Given the description of an element on the screen output the (x, y) to click on. 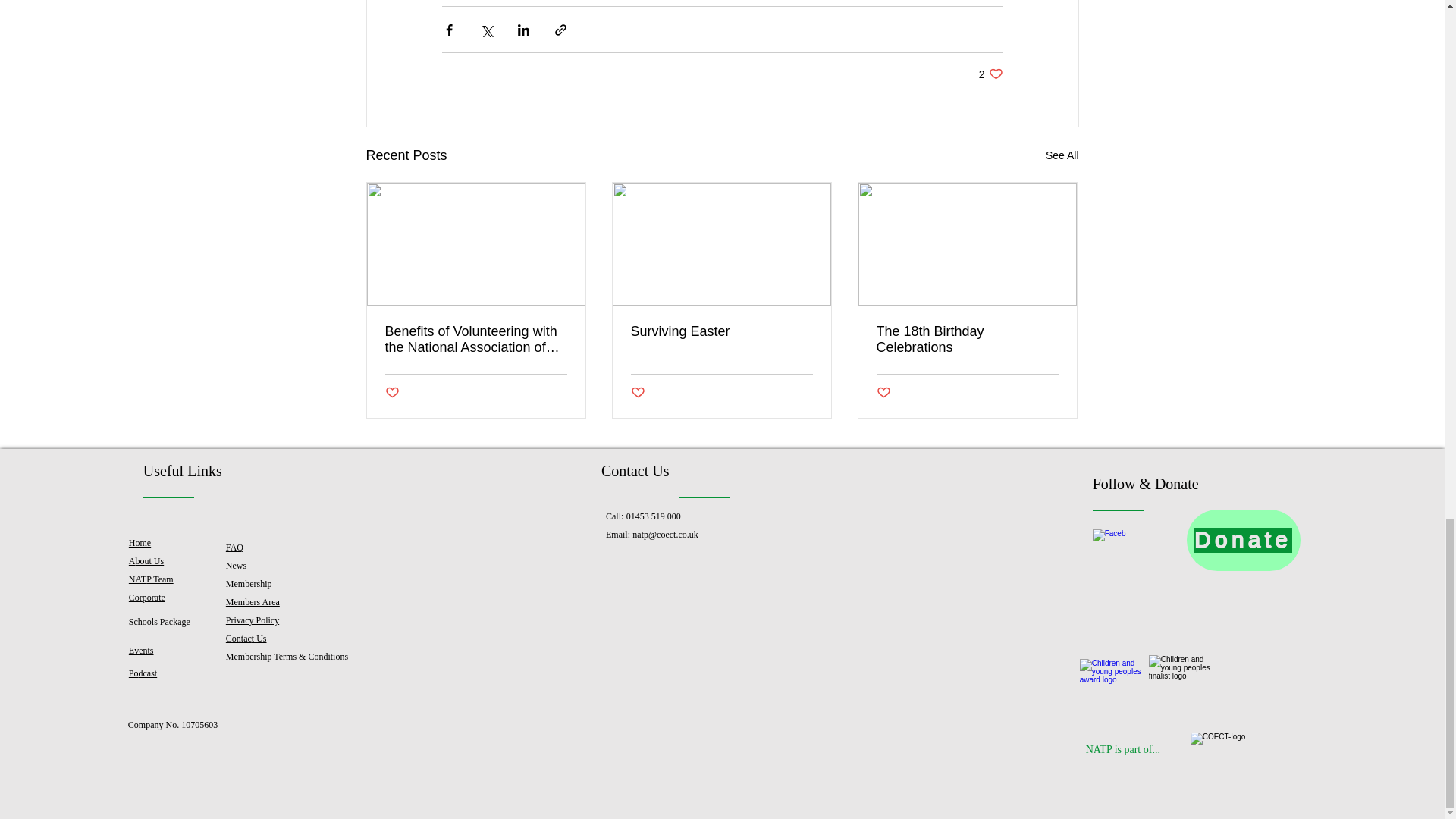
Post not marked as liked (391, 392)
See All (990, 73)
Surviving Easter (1061, 155)
